Given the description of an element on the screen output the (x, y) to click on. 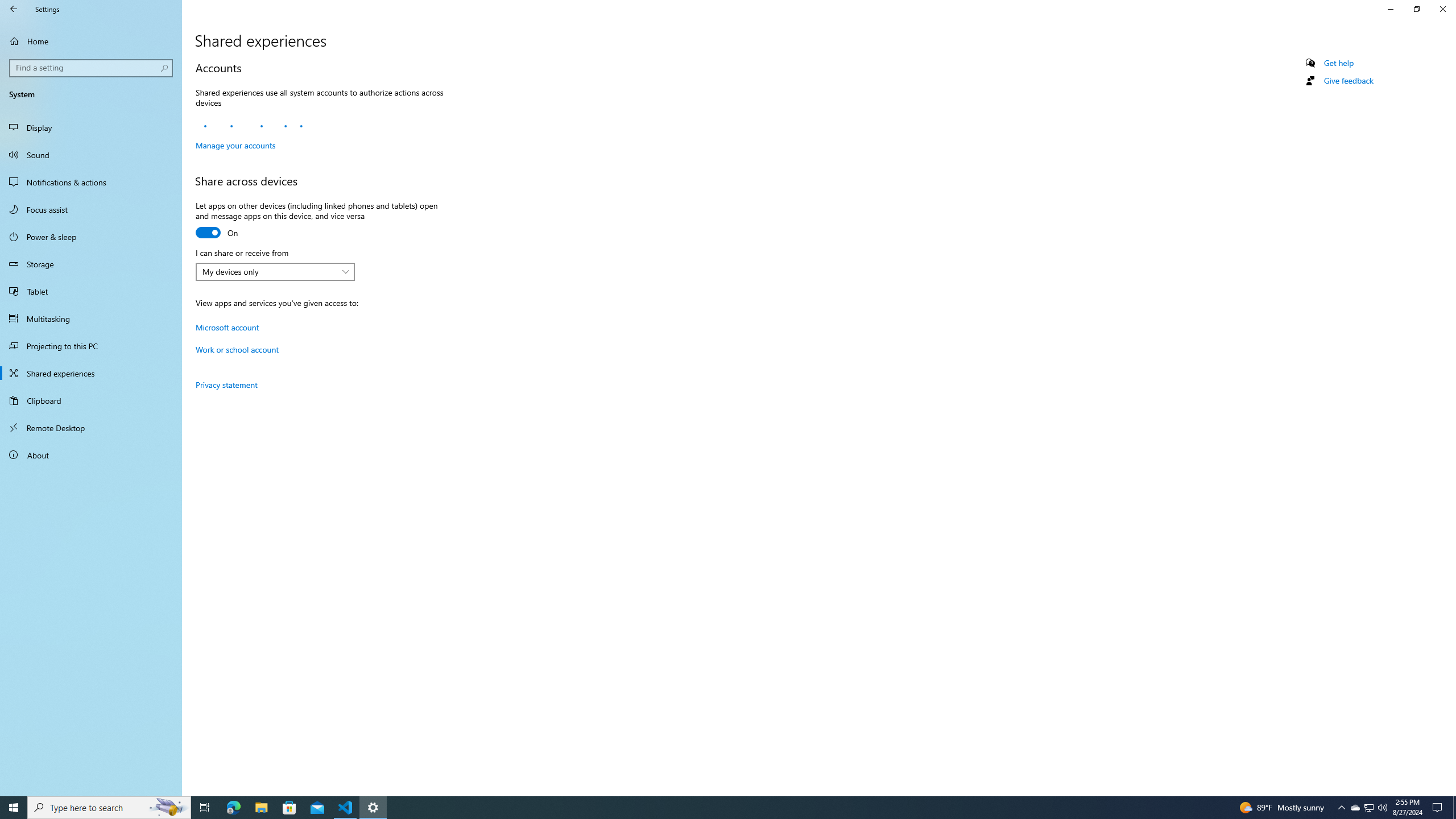
Storage (91, 263)
Tablet (91, 290)
Remote Desktop (91, 427)
Action Center, No new notifications (1439, 807)
Microsoft Edge (233, 807)
Manage your accounts (235, 145)
File Explorer (261, 807)
Clipboard (91, 400)
Microsoft account (227, 326)
Running applications (717, 807)
Search highlights icon opens search home window (1355, 807)
Focus assist (167, 807)
Visual Studio Code - 1 running window (91, 208)
